Given the description of an element on the screen output the (x, y) to click on. 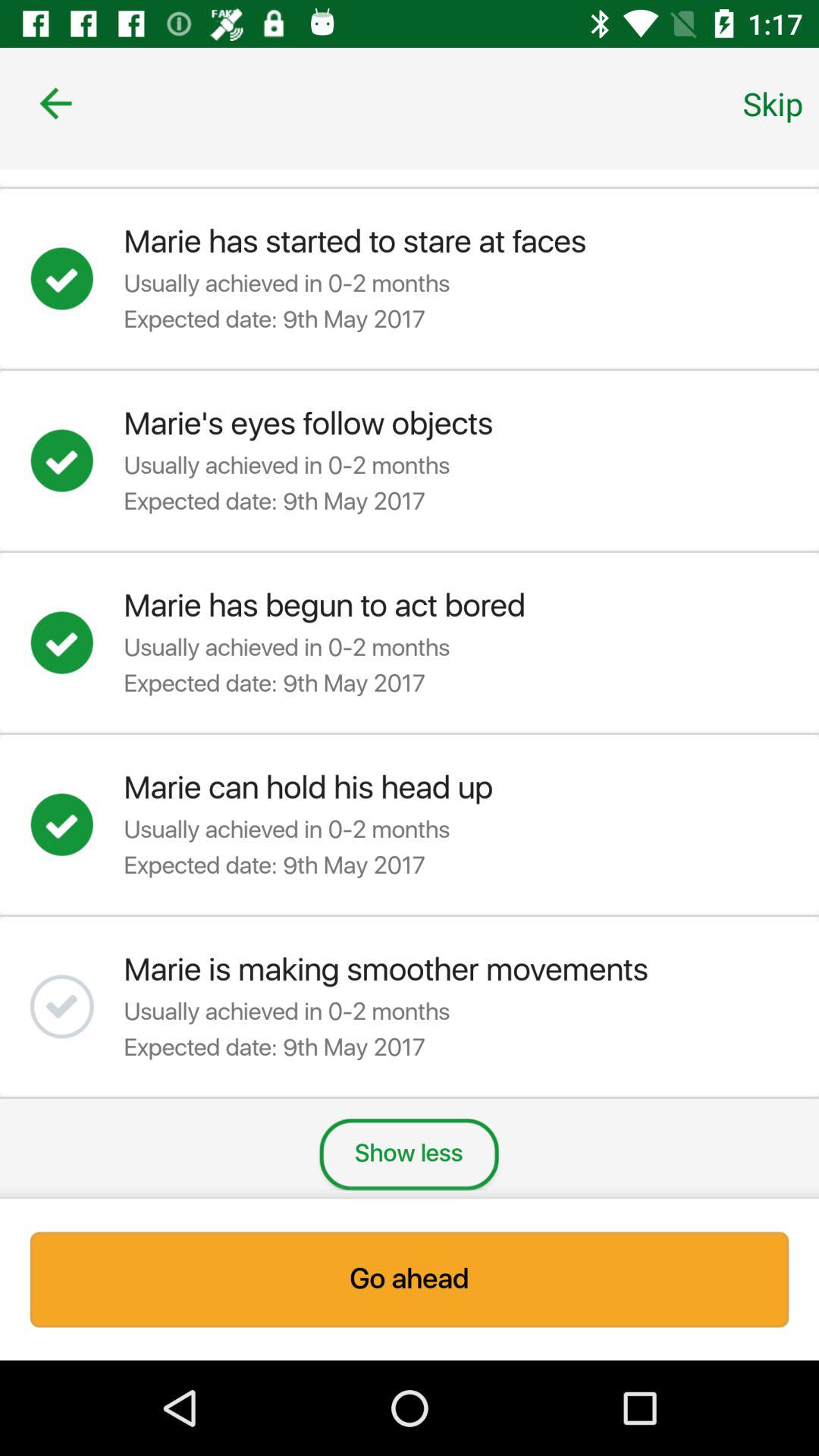
uncheck achievement (76, 278)
